Given the description of an element on the screen output the (x, y) to click on. 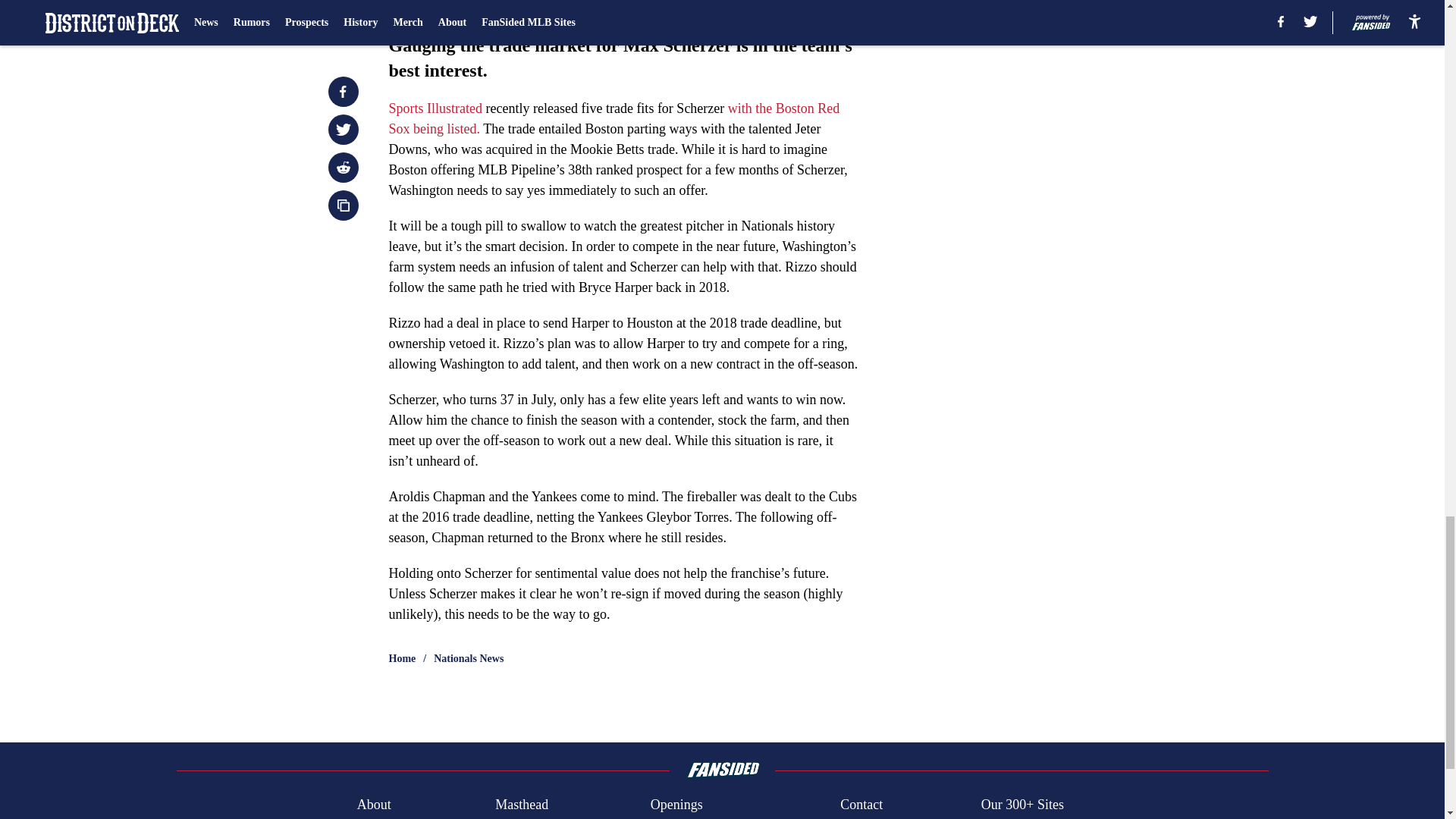
Nationals News (468, 658)
Contact (861, 804)
with the Boston Red Sox being listed. (614, 118)
Sports Illustrated (436, 108)
Masthead (521, 804)
Home (401, 658)
About (373, 804)
Openings (676, 804)
